Given the description of an element on the screen output the (x, y) to click on. 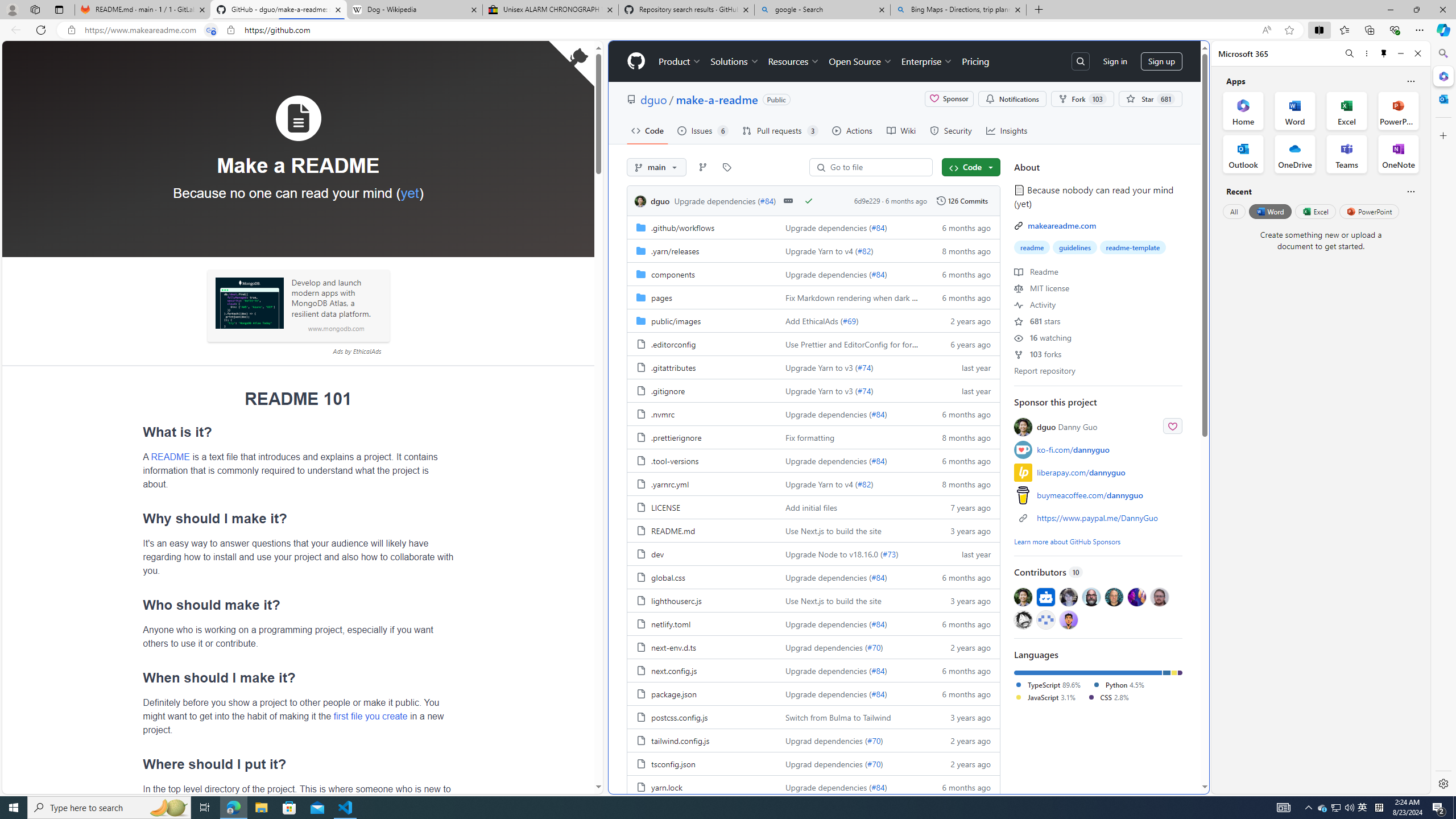
.yarnrc.yml, (File) (669, 483)
tailwind.config.js, (File) (680, 740)
public/images, (Directory) (701, 320)
Actions (852, 130)
Upgrade Yarn to v3 (#74) (849, 390)
Code (971, 167)
Fix Markdown rendering when dark mode is on (#85) (849, 296)
.gitattributes, (File) (701, 366)
@Haroenv (1136, 596)
Upgrade Yarn to v4 ( (820, 483)
Insights (1006, 130)
Teams Office App (1346, 154)
681 stars (1037, 320)
CSS2.8% (1112, 697)
